Given the description of an element on the screen output the (x, y) to click on. 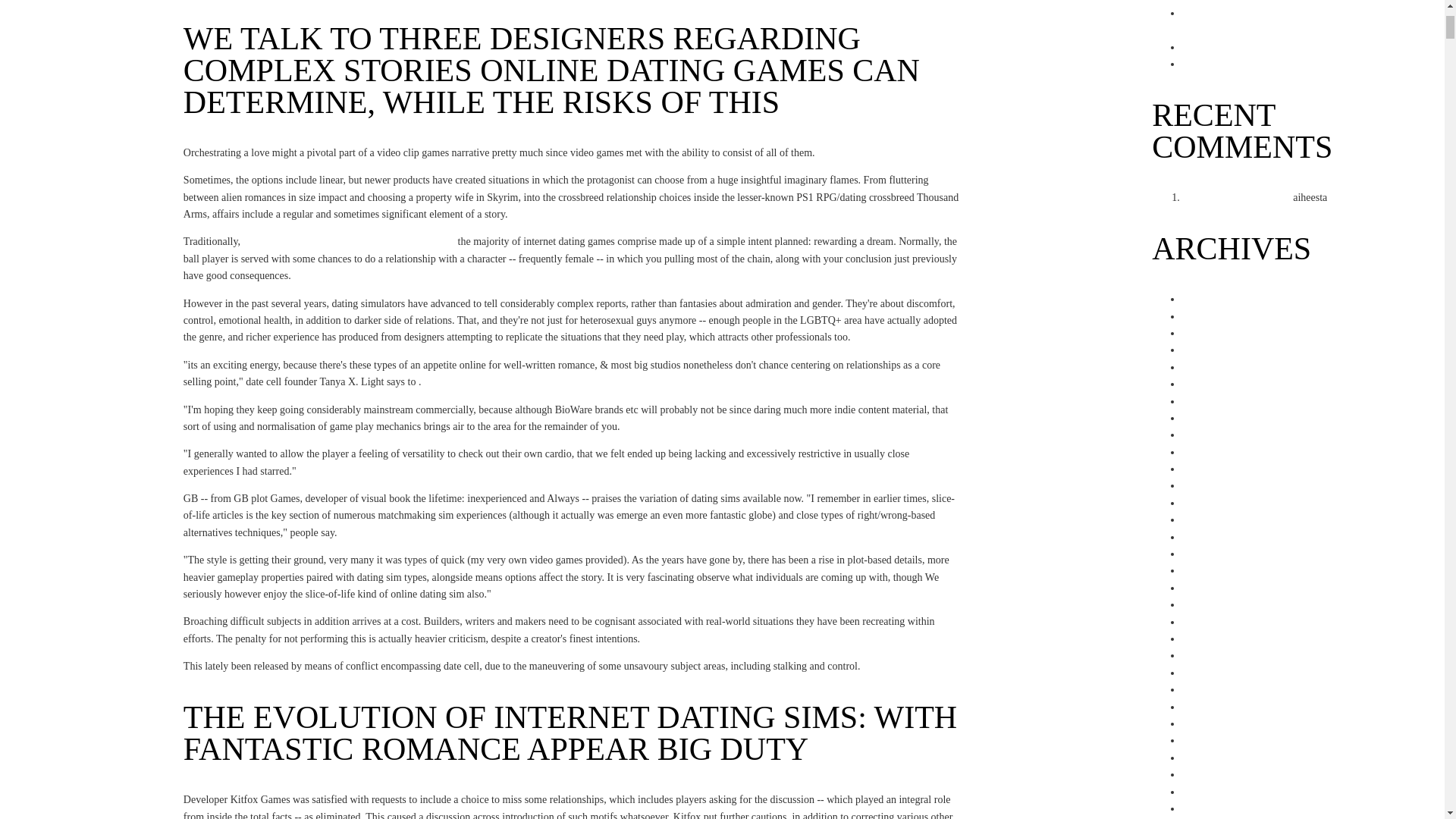
helmikuu 2024 (1214, 383)
Hello world! (1357, 197)
A WordPress Commenter (1236, 197)
lokakuu 2023 (1211, 451)
marraskuu 2023 (1216, 434)
tammikuu 2024 (1215, 401)
elokuu 2024 (1208, 298)
syyskuu 2023 (1211, 469)
maaliskuu 2024 (1215, 367)
toukokuu 2023 (1214, 536)
